Given the description of an element on the screen output the (x, y) to click on. 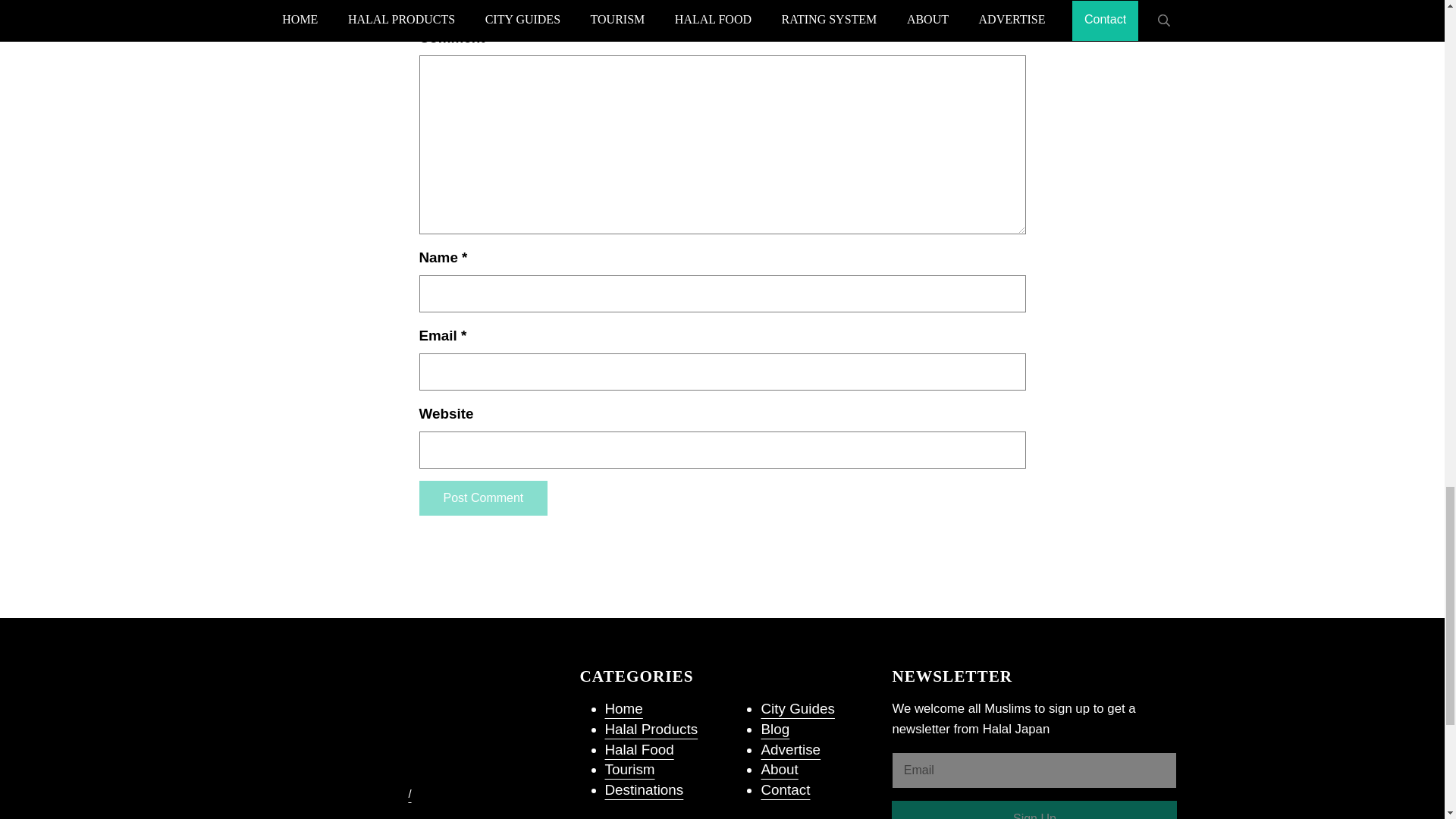
Sign Up (1033, 809)
Post Comment (483, 497)
